Given the description of an element on the screen output the (x, y) to click on. 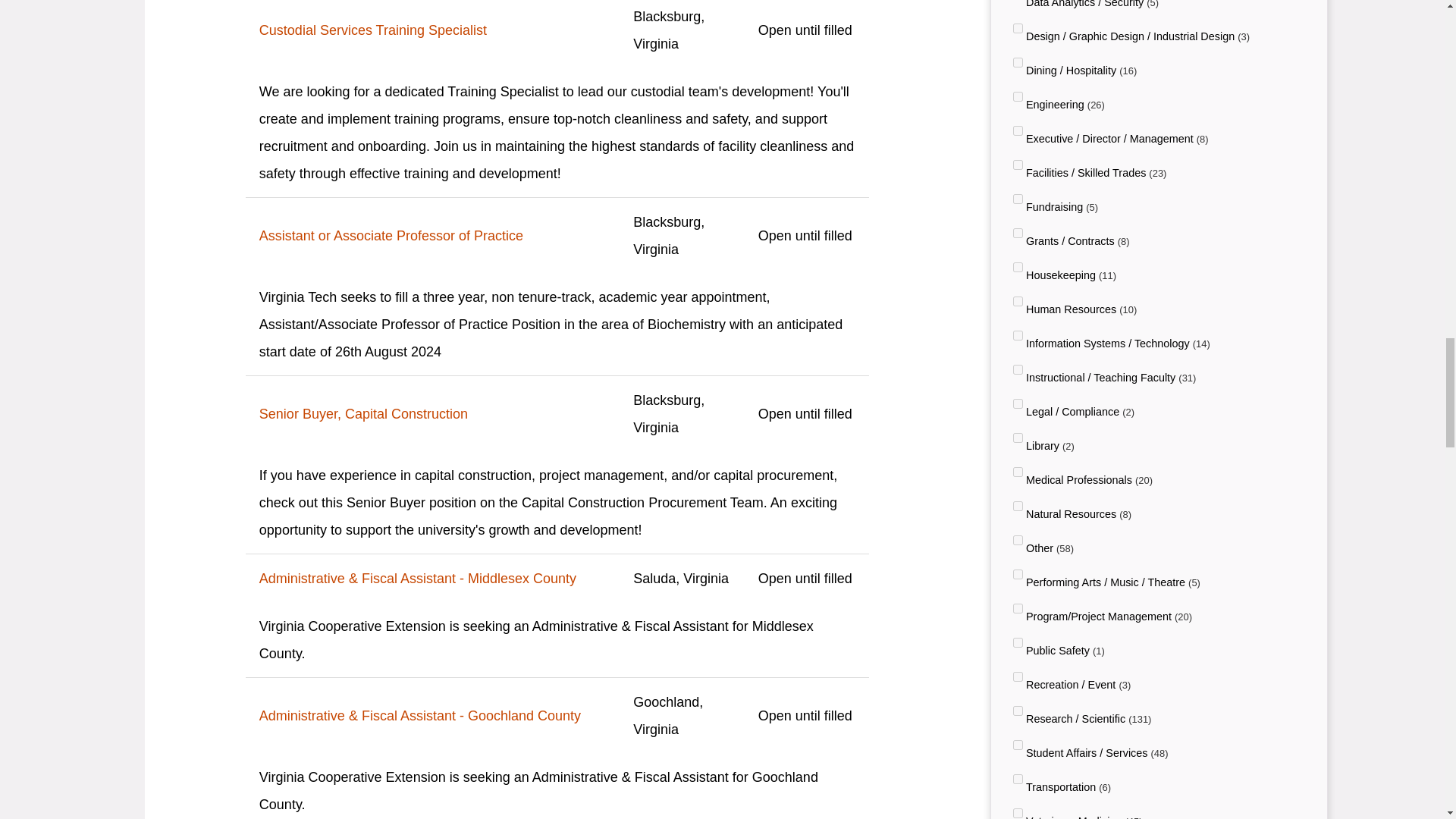
Custodial Services Training Specialist (432, 30)
